Given the description of an element on the screen output the (x, y) to click on. 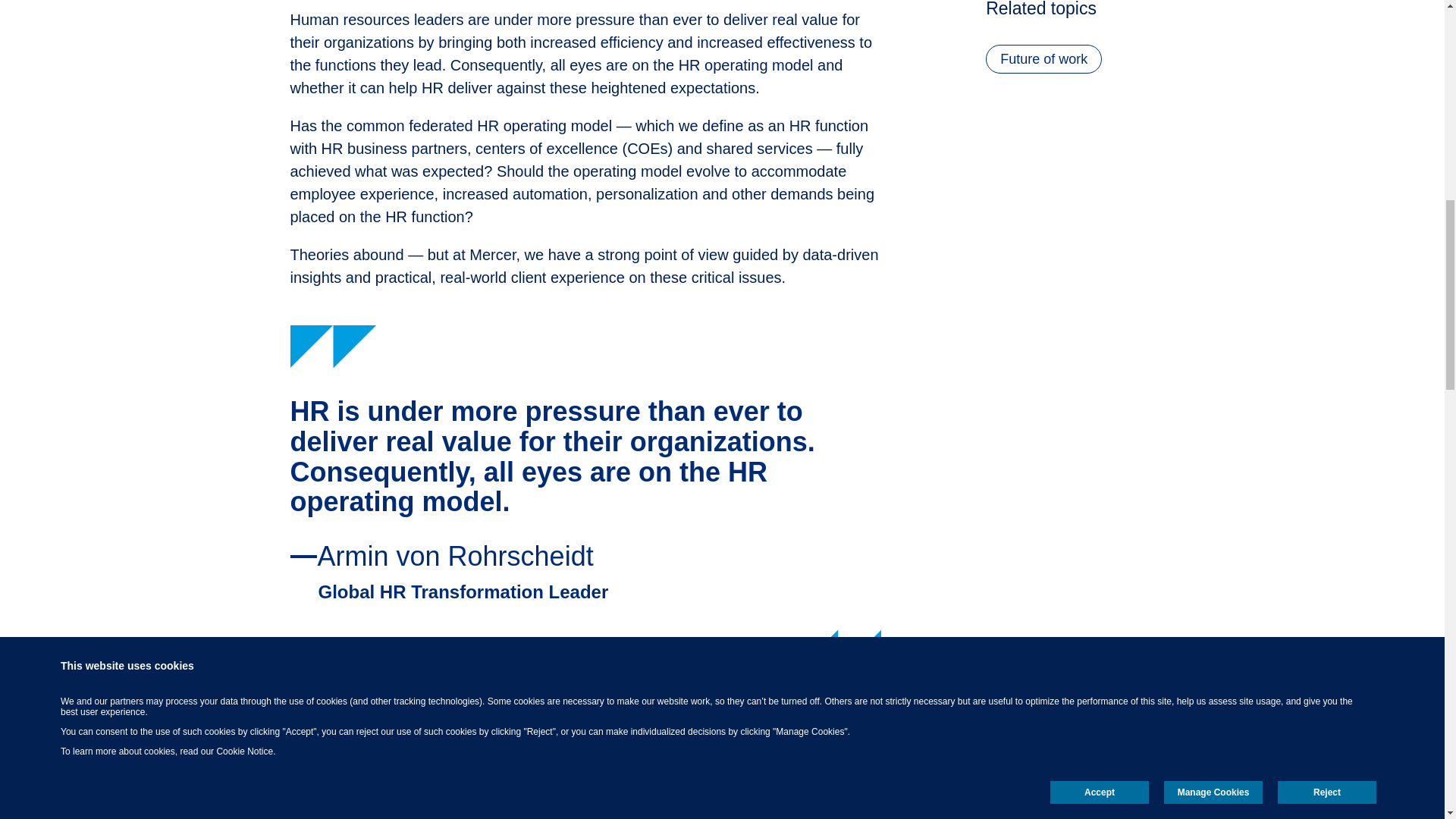
Future of work (1043, 59)
Future of work (1043, 59)
